Given the description of an element on the screen output the (x, y) to click on. 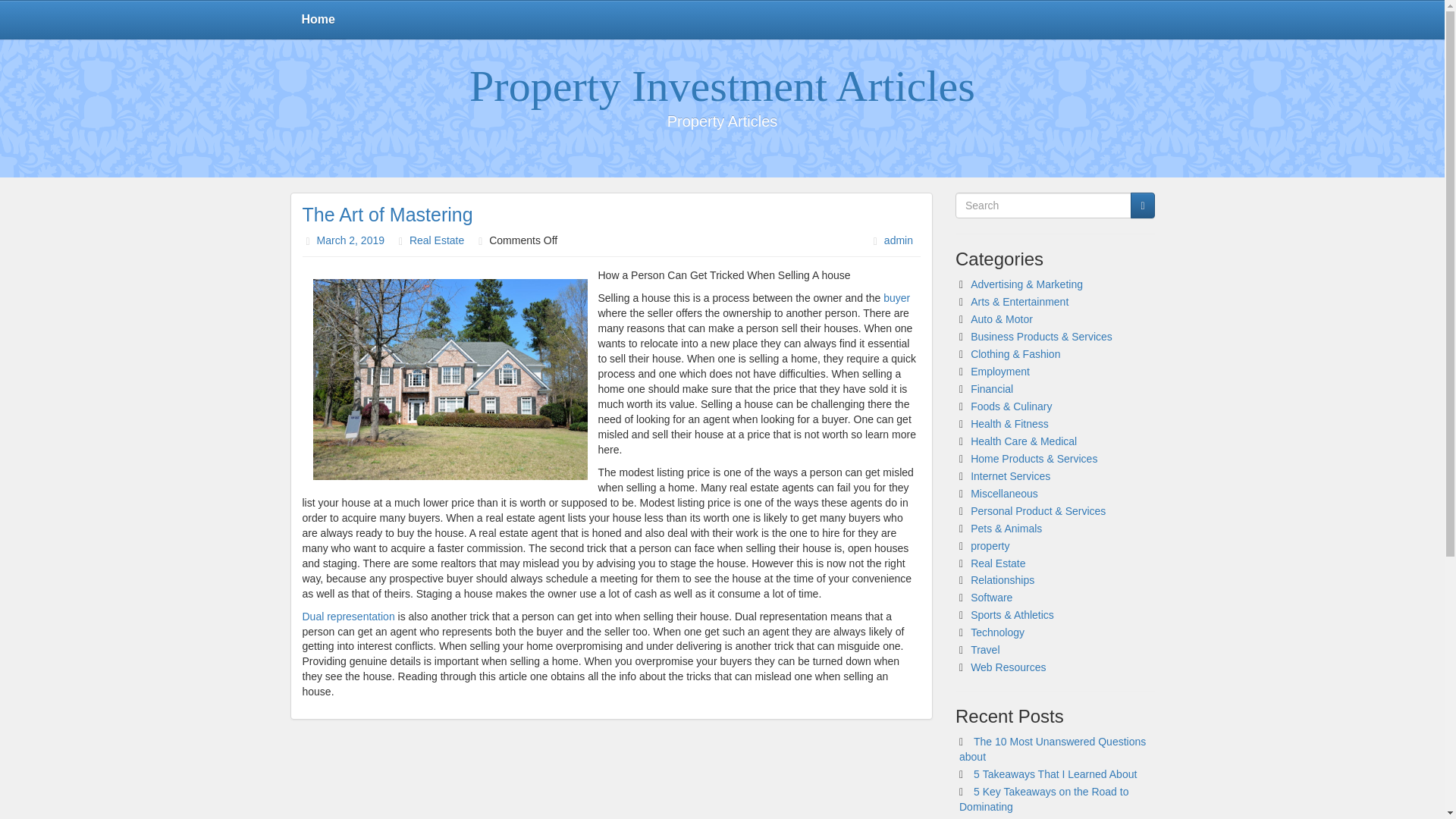
Real Estate (998, 562)
Travel (984, 649)
Web Resources (1008, 666)
Real Estate (436, 240)
The 10 Most Unanswered Questions about (1052, 748)
Technology (998, 632)
Miscellaneous (1004, 493)
Internet Services (1010, 476)
admin (897, 240)
Relationships (1002, 580)
